Given the description of an element on the screen output the (x, y) to click on. 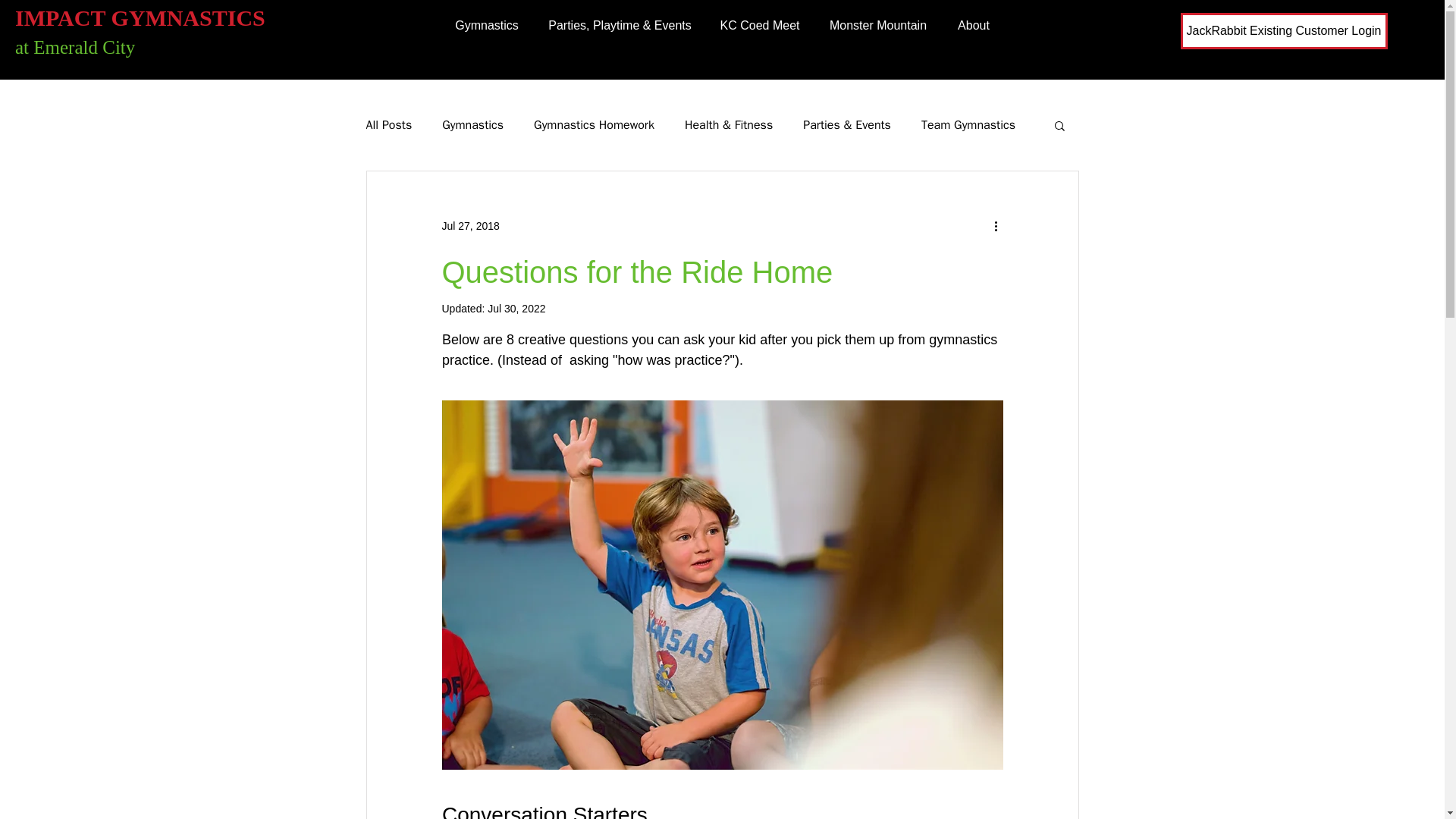
Gymnastics (472, 124)
Jul 30, 2022 (515, 308)
JackRabbit Existing Customer Login (1283, 31)
KC Coed Meet (759, 25)
Team Gymnastics (967, 124)
at Emerald City (74, 46)
Jul 27, 2018 (470, 225)
IMPACT GYMNASTICS (139, 17)
Monster Mountain (877, 25)
About (973, 25)
